Given the description of an element on the screen output the (x, y) to click on. 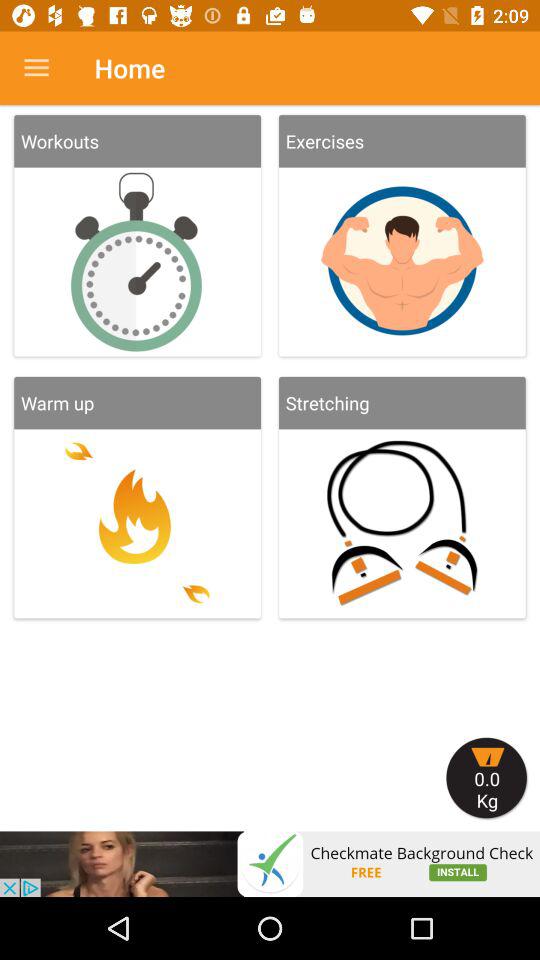
show cart (487, 778)
